Given the description of an element on the screen output the (x, y) to click on. 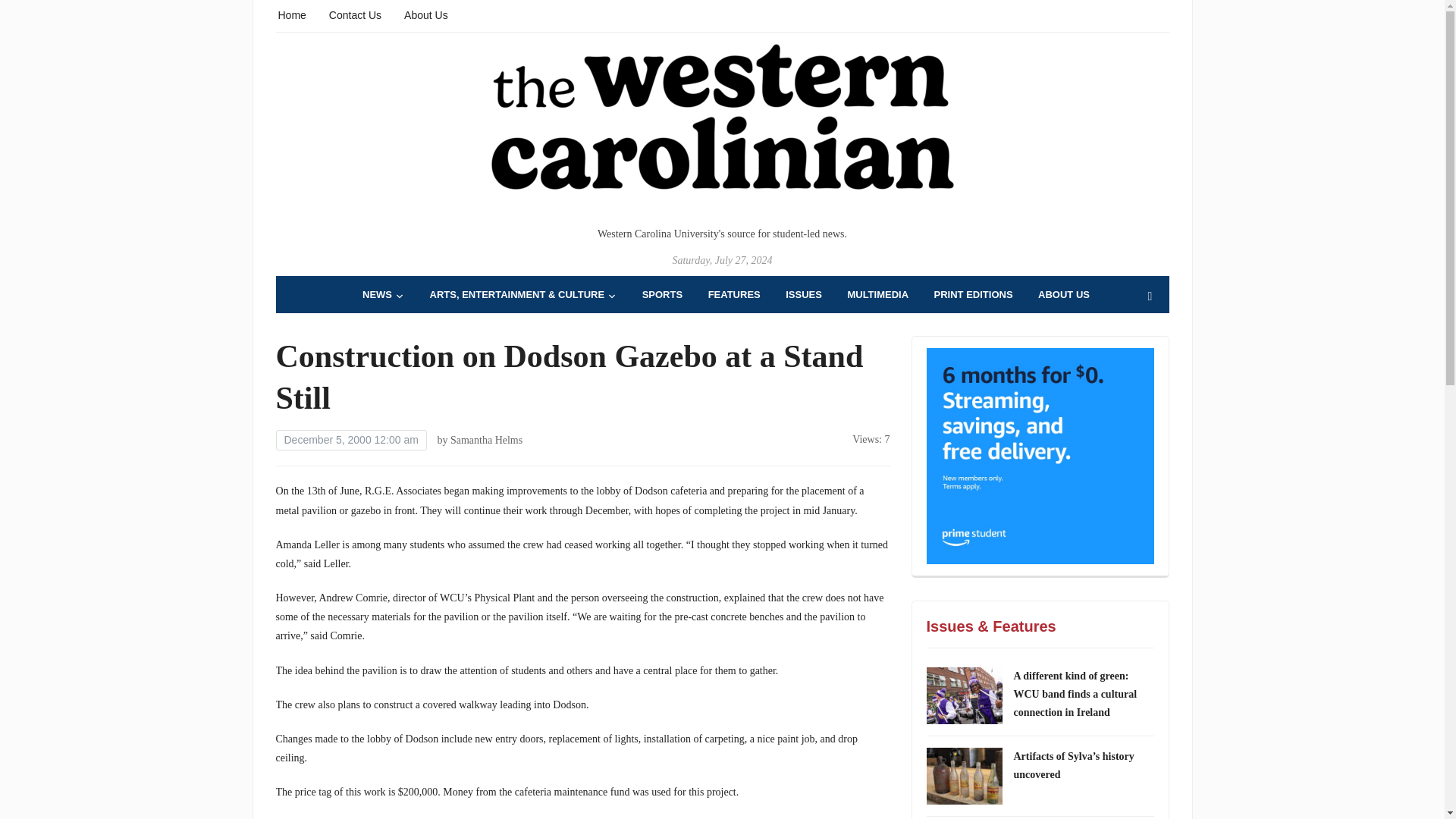
About Us (426, 14)
Home (291, 14)
SPORTS (662, 294)
MULTIMEDIA (877, 294)
PRINT EDITIONS (973, 294)
ISSUES (804, 294)
ABOUT US (1063, 294)
Search (1149, 296)
FEATURES (733, 294)
NEWS (383, 294)
Contact Us (355, 14)
